Given the description of an element on the screen output the (x, y) to click on. 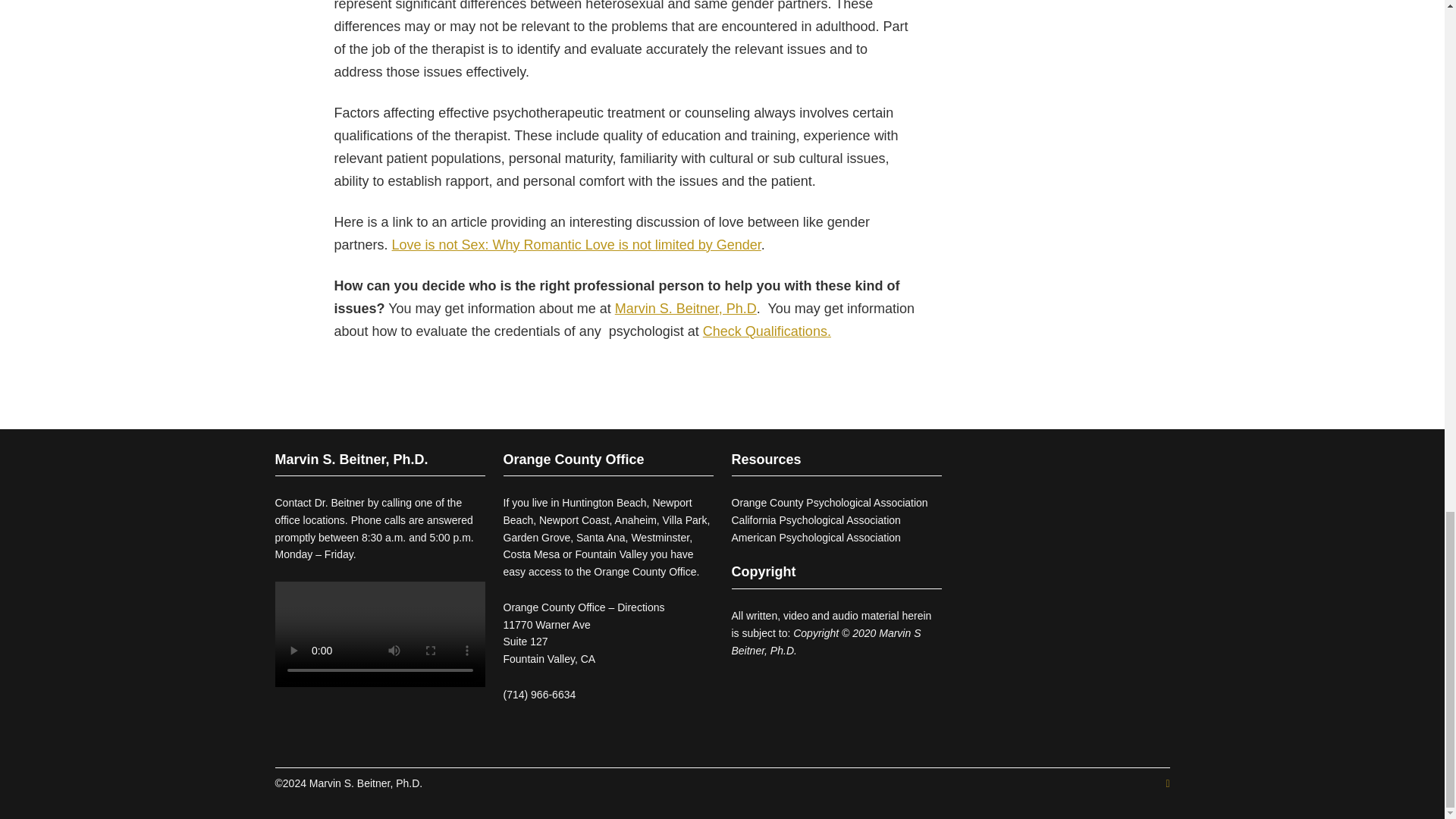
Love is not Sex: Why Romantic Love is not limited by Gender (576, 244)
Marvin S. Beitner, Ph.D (685, 308)
Check Qualifications. (767, 331)
Directions (640, 607)
